Given the description of an element on the screen output the (x, y) to click on. 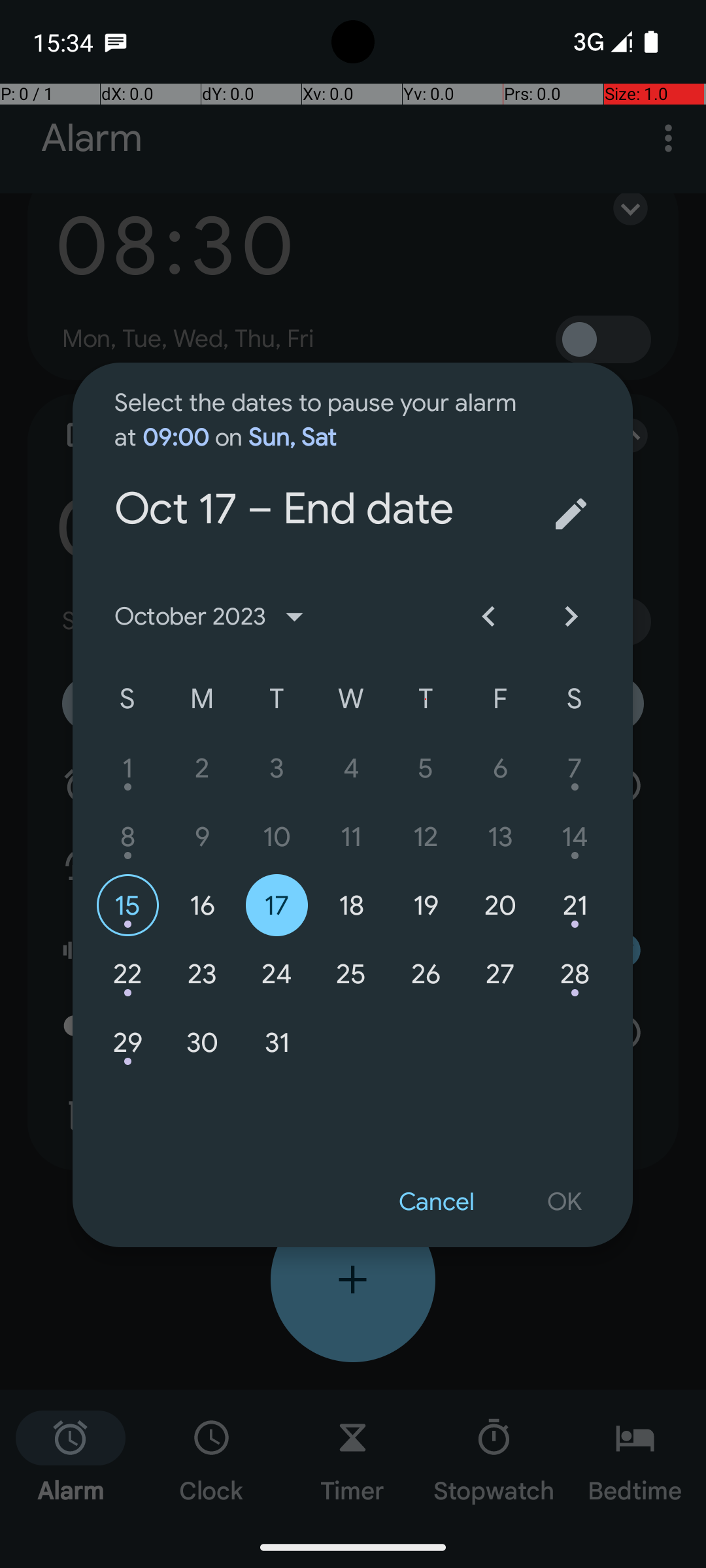
Switch to text input mode Element type: android.widget.ImageButton (570, 513)
October 2023 Element type: android.widget.Button (214, 616)
Change to previous month Element type: android.widget.Button (488, 616)
Change to next month Element type: android.widget.Button (570, 616)
Oct 17 – End date Element type: android.widget.TextView (321, 454)
Select the dates to pause your alarm at 09:00 on Sun, Sat Element type: android.widget.TextView (321, 407)
